Given the description of an element on the screen output the (x, y) to click on. 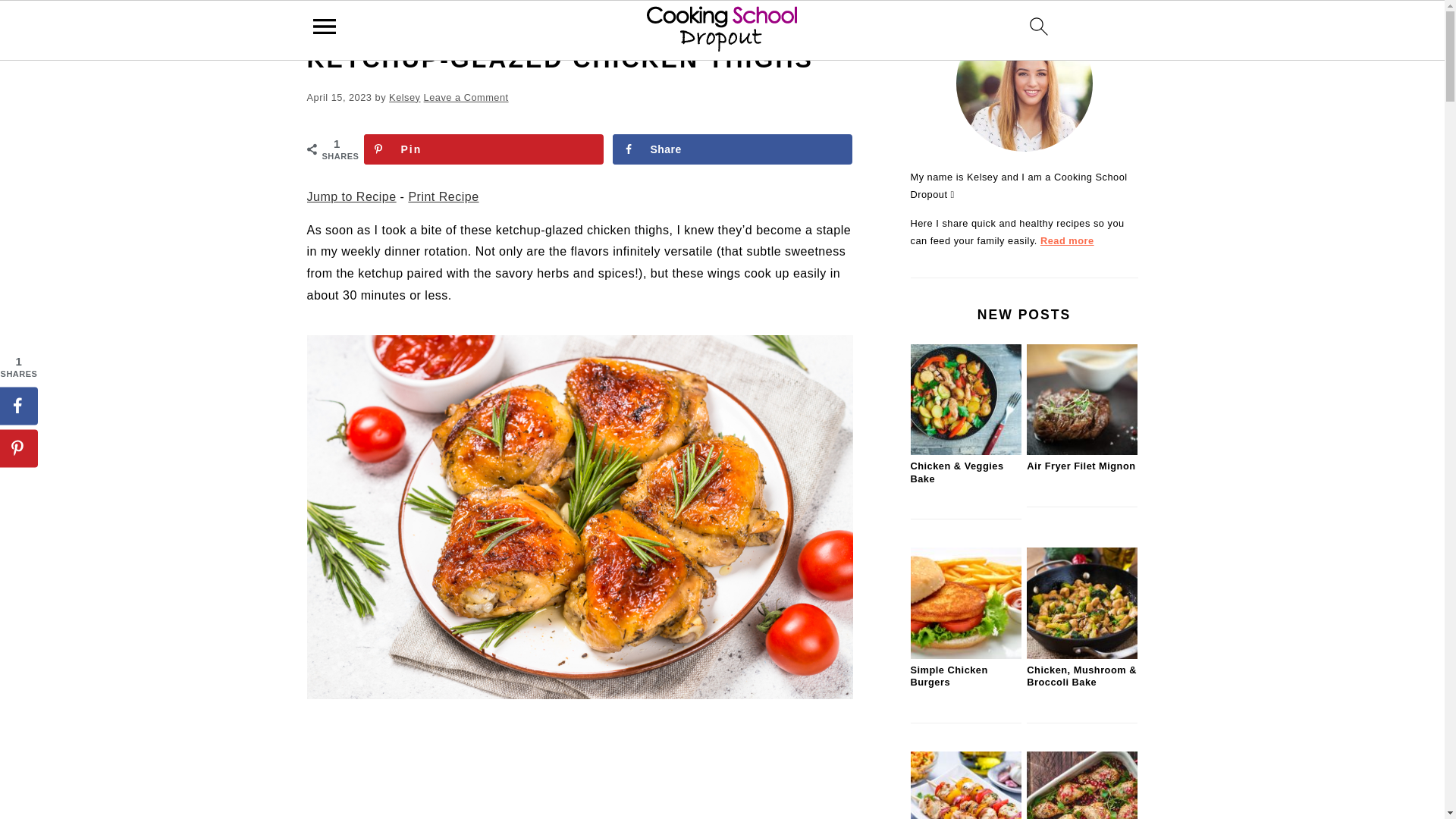
Simple Chicken Burgers (965, 655)
Save to Pinterest (484, 149)
Share (731, 149)
Share on Facebook (731, 149)
Pin (484, 149)
Home (319, 23)
Leave a Comment (465, 97)
Dinner (361, 23)
Save to Pinterest (18, 447)
search icon (1039, 26)
Share on Facebook (18, 405)
Print Recipe (443, 196)
Air Fryer Filet Mignon (1081, 451)
Jump to Recipe (350, 196)
